Given the description of an element on the screen output the (x, y) to click on. 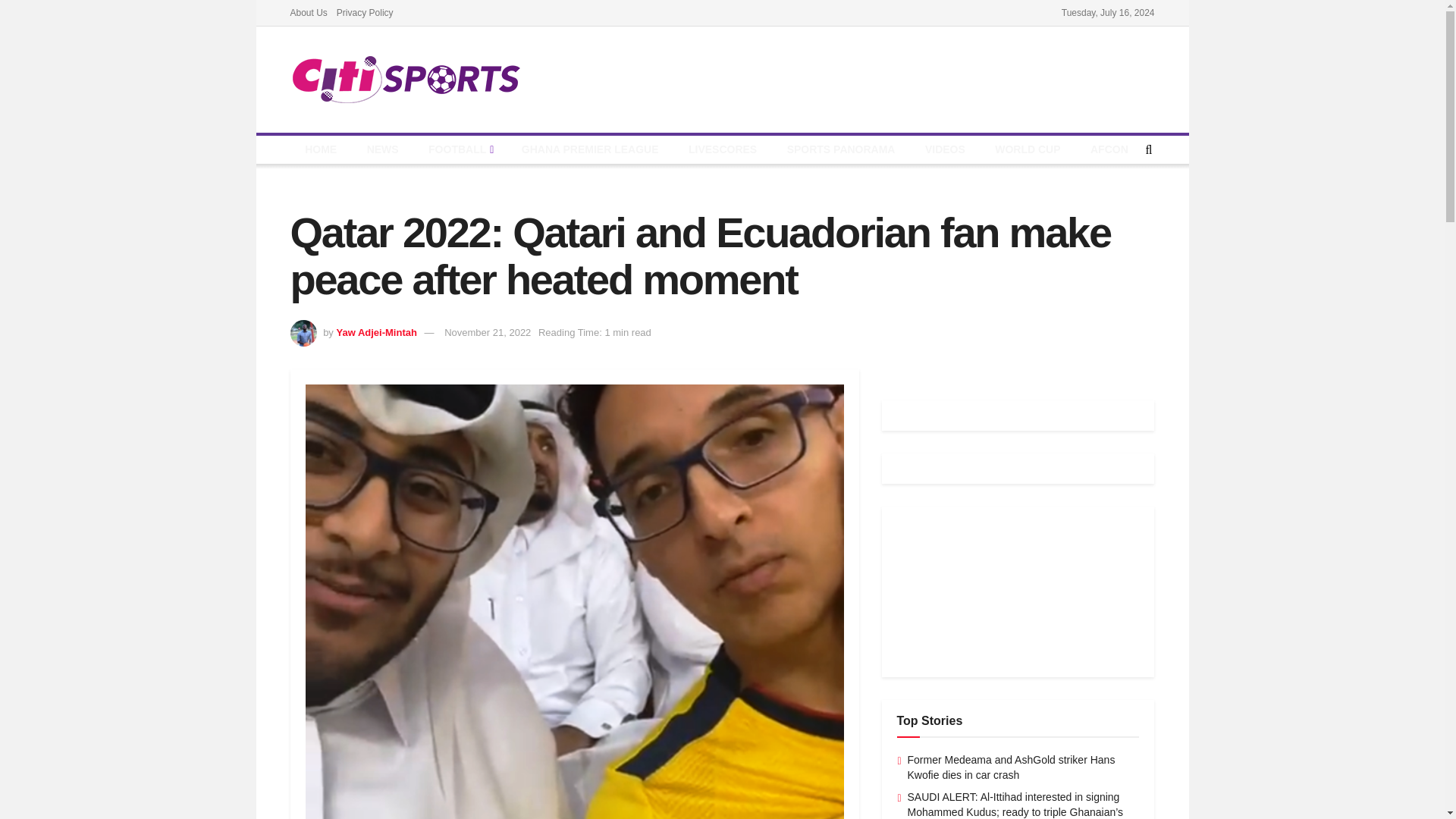
WORLD CUP (1027, 149)
About Us (307, 12)
Privacy Policy (364, 12)
SPORTS PANORAMA (840, 149)
AFCON (1108, 149)
GHANA PREMIER LEAGUE (589, 149)
NEWS (382, 149)
FOOTBALL (459, 149)
LIVESCORES (721, 149)
Yaw Adjei-Mintah (376, 332)
HOME (319, 149)
November 21, 2022 (487, 332)
VIDEOS (944, 149)
